Given the description of an element on the screen output the (x, y) to click on. 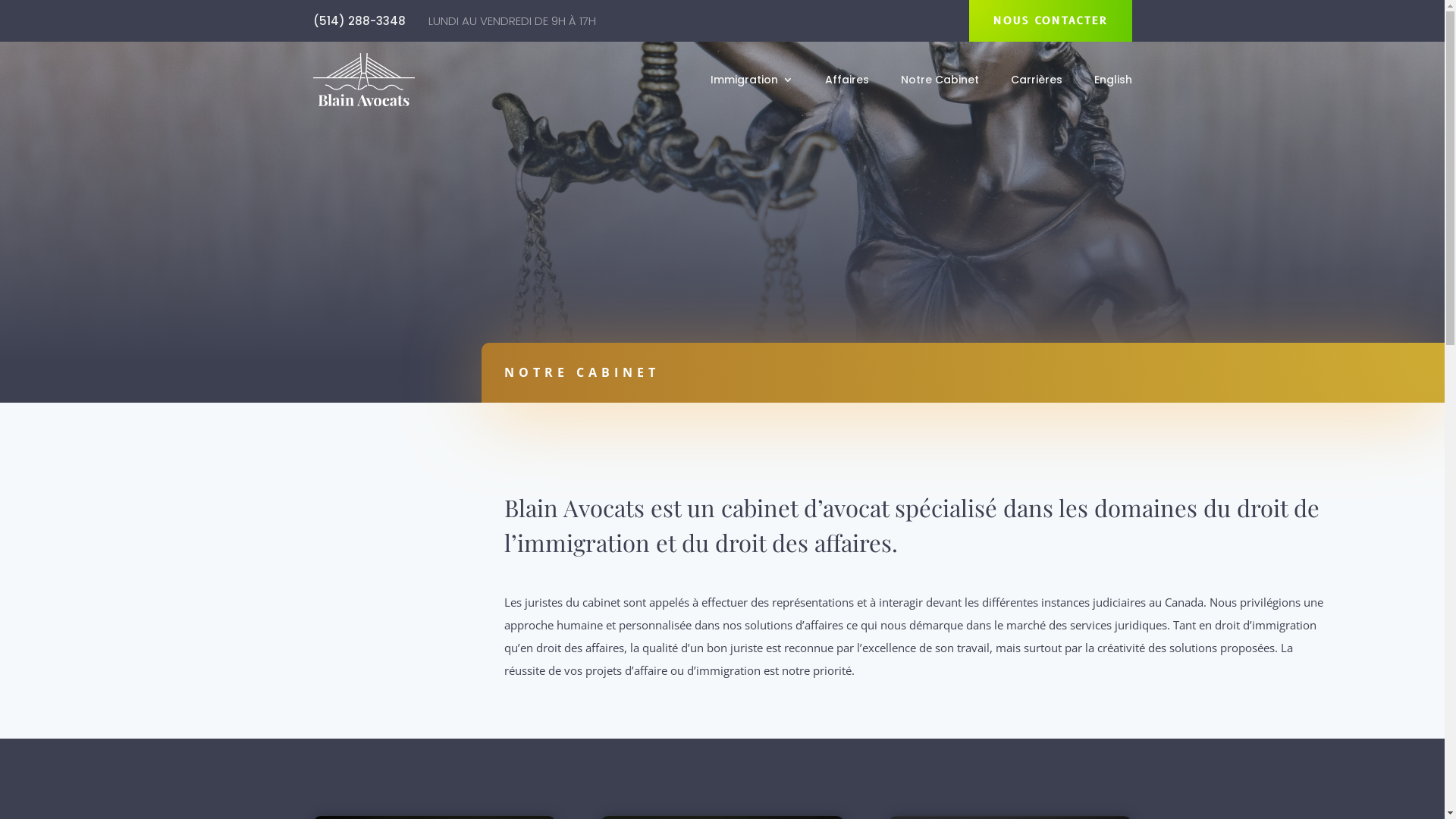
English Element type: text (1112, 82)
Notre Cabinet Element type: text (939, 82)
Affaires Element type: text (847, 82)
Immigration Element type: text (750, 82)
NOUS CONTACTER Element type: text (1050, 21)
(514) 288-3348 Element type: text (358, 20)
ddh091-100 Element type: hover (363, 79)
